Given the description of an element on the screen output the (x, y) to click on. 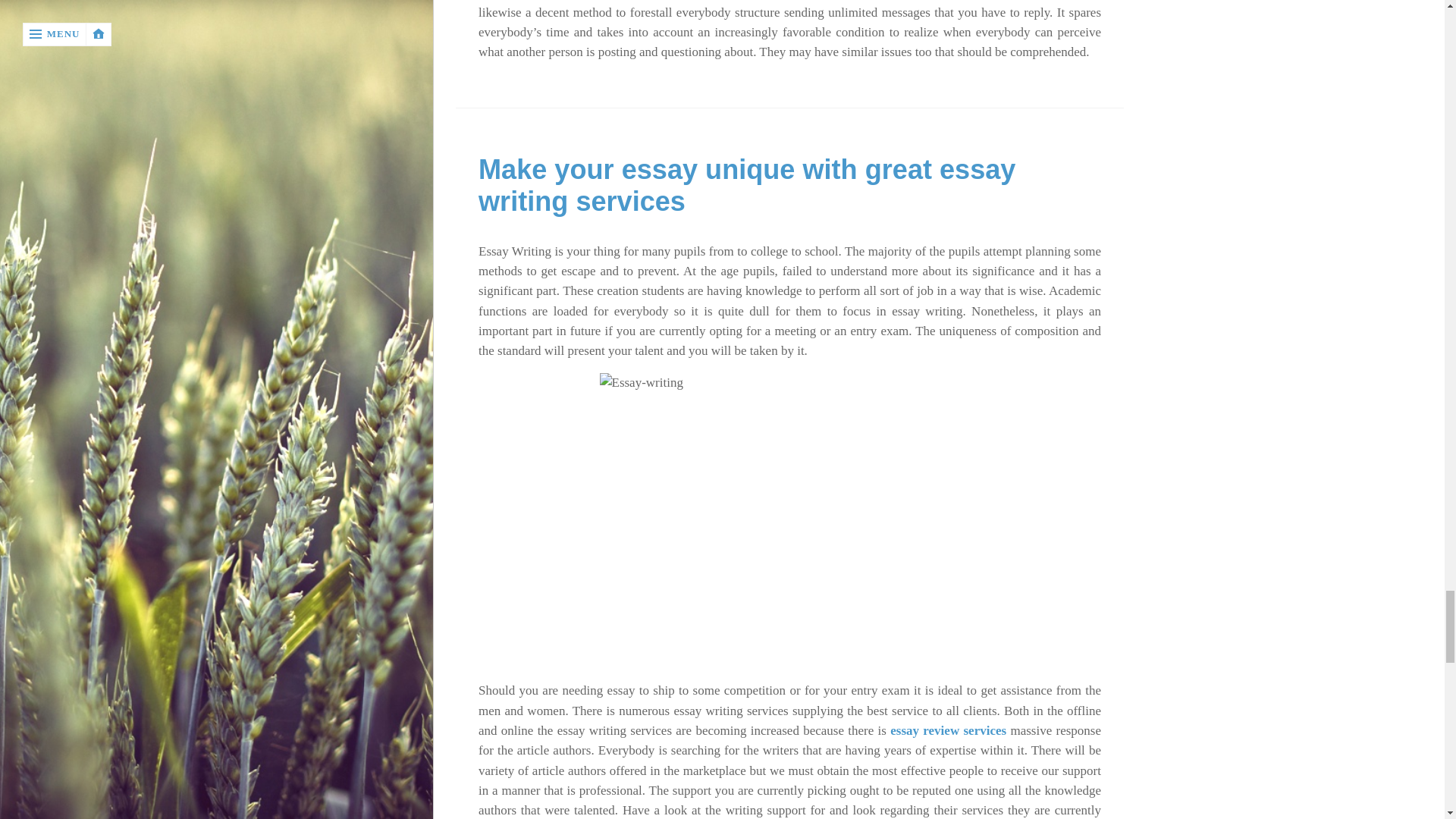
essay review services (947, 730)
Make your essay unique with great essay writing services (746, 185)
